Given the description of an element on the screen output the (x, y) to click on. 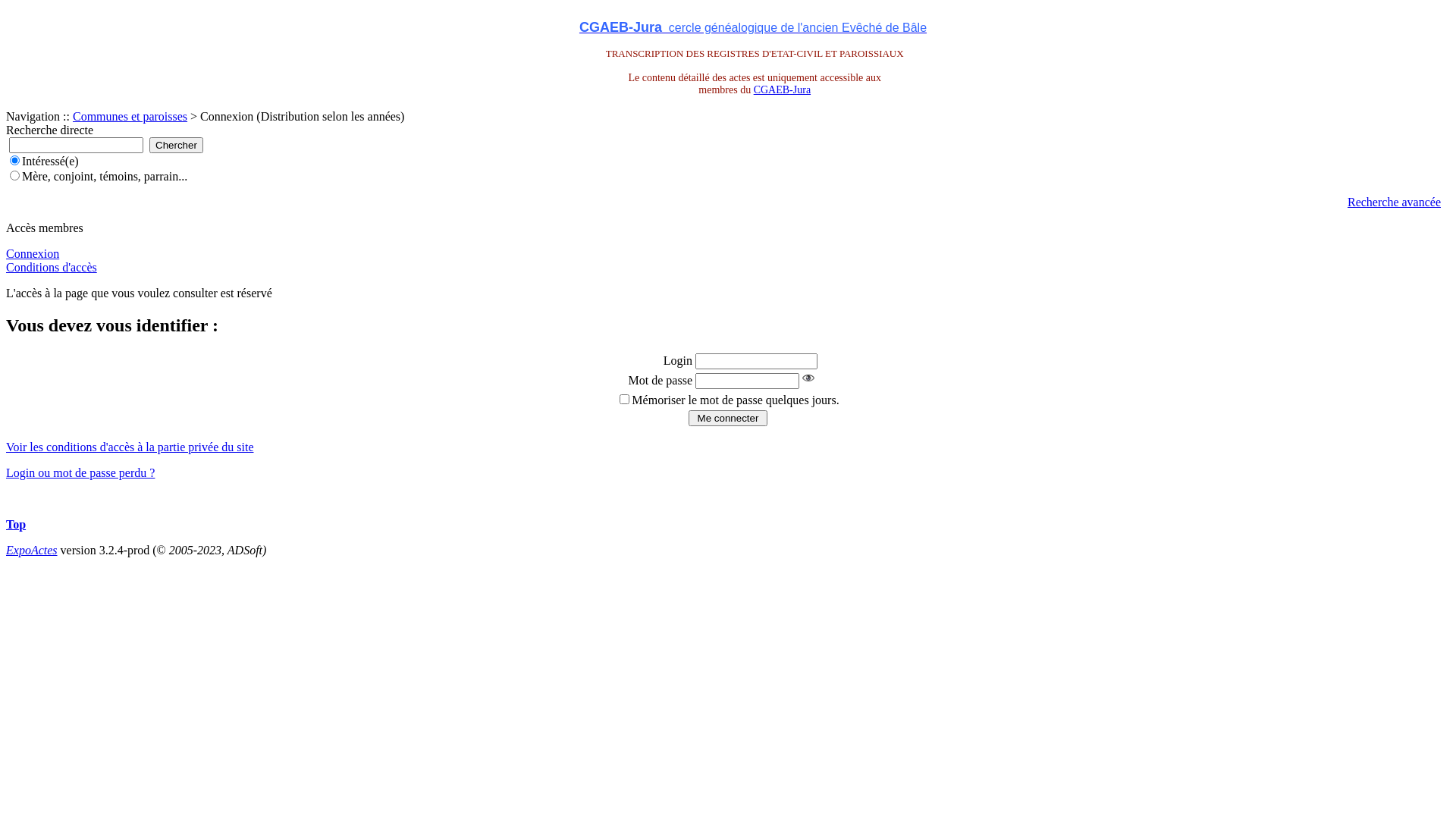
Connexion Element type: text (32, 253)
Login ou mot de passe perdu ? Element type: text (80, 472)
Top Element type: text (15, 523)
Communes et paroisses Element type: text (129, 115)
Chercher Element type: text (176, 145)
 Me connecter  Element type: text (727, 418)
CGAEB-Jura Element type: text (781, 89)
ExpoActes Element type: text (31, 549)
